Given the description of an element on the screen output the (x, y) to click on. 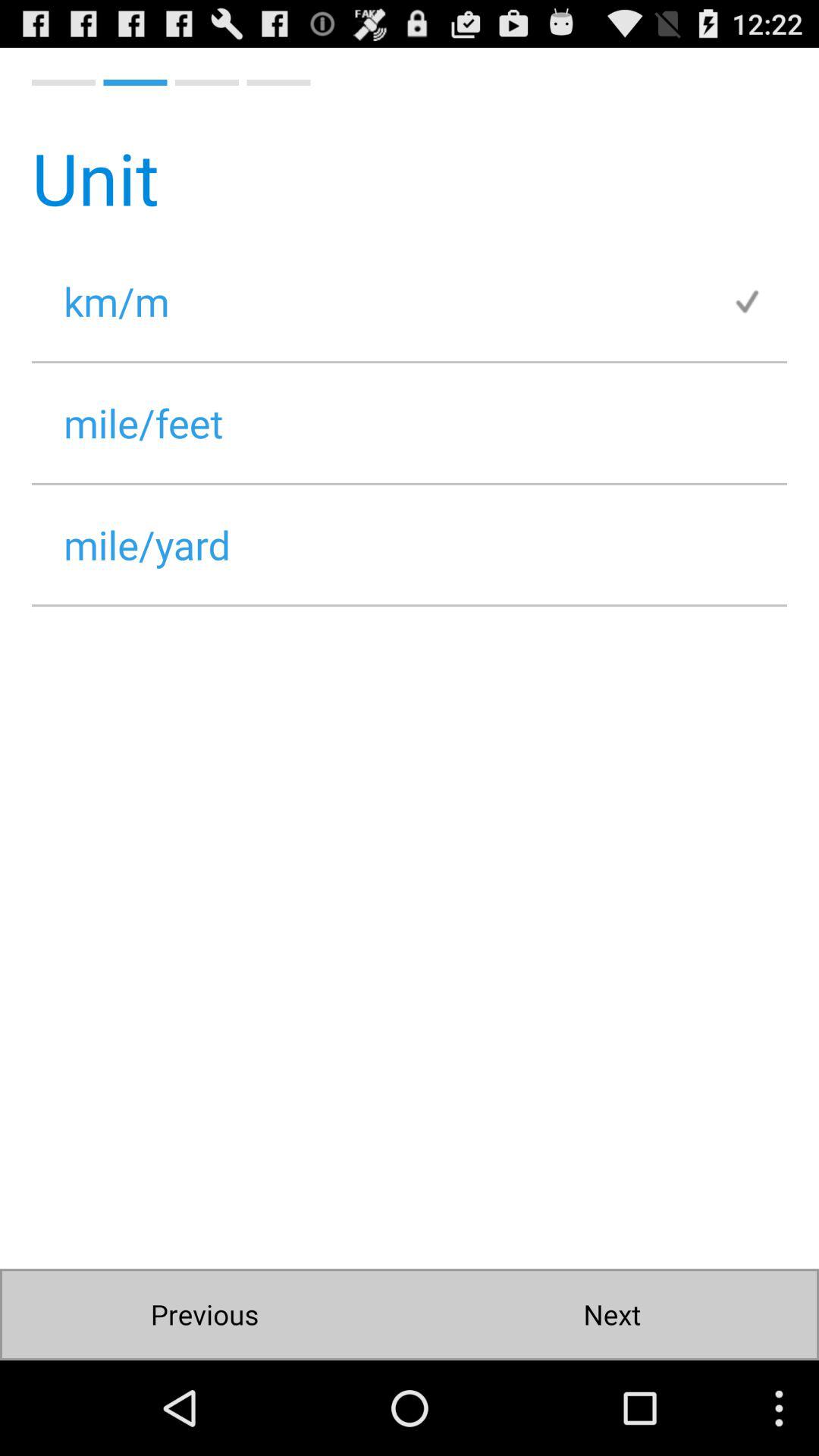
select item next to the km/m item (759, 300)
